Given the description of an element on the screen output the (x, y) to click on. 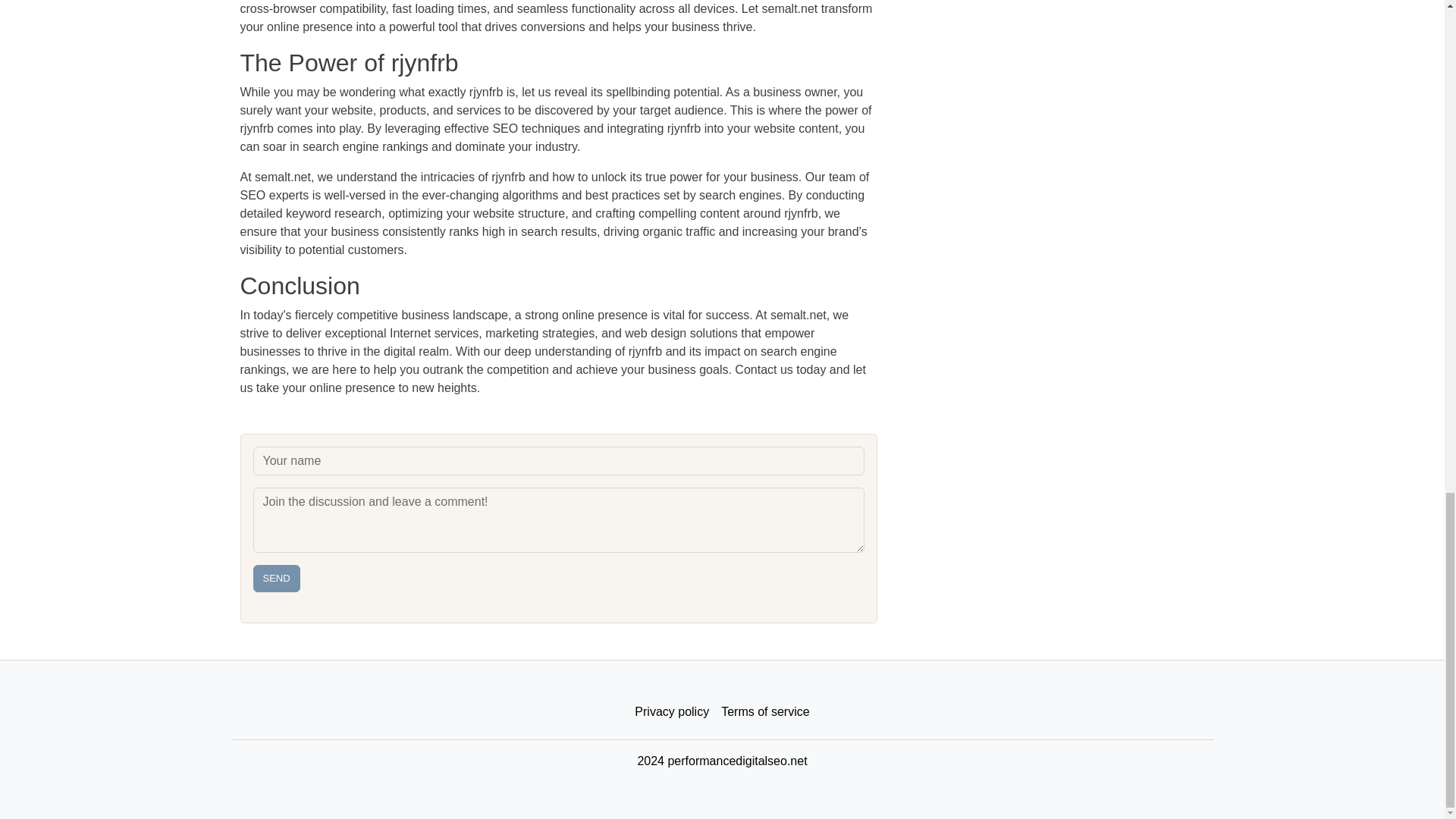
Privacy policy (671, 711)
Send (276, 578)
Send (276, 578)
Terms of service (764, 711)
